Given the description of an element on the screen output the (x, y) to click on. 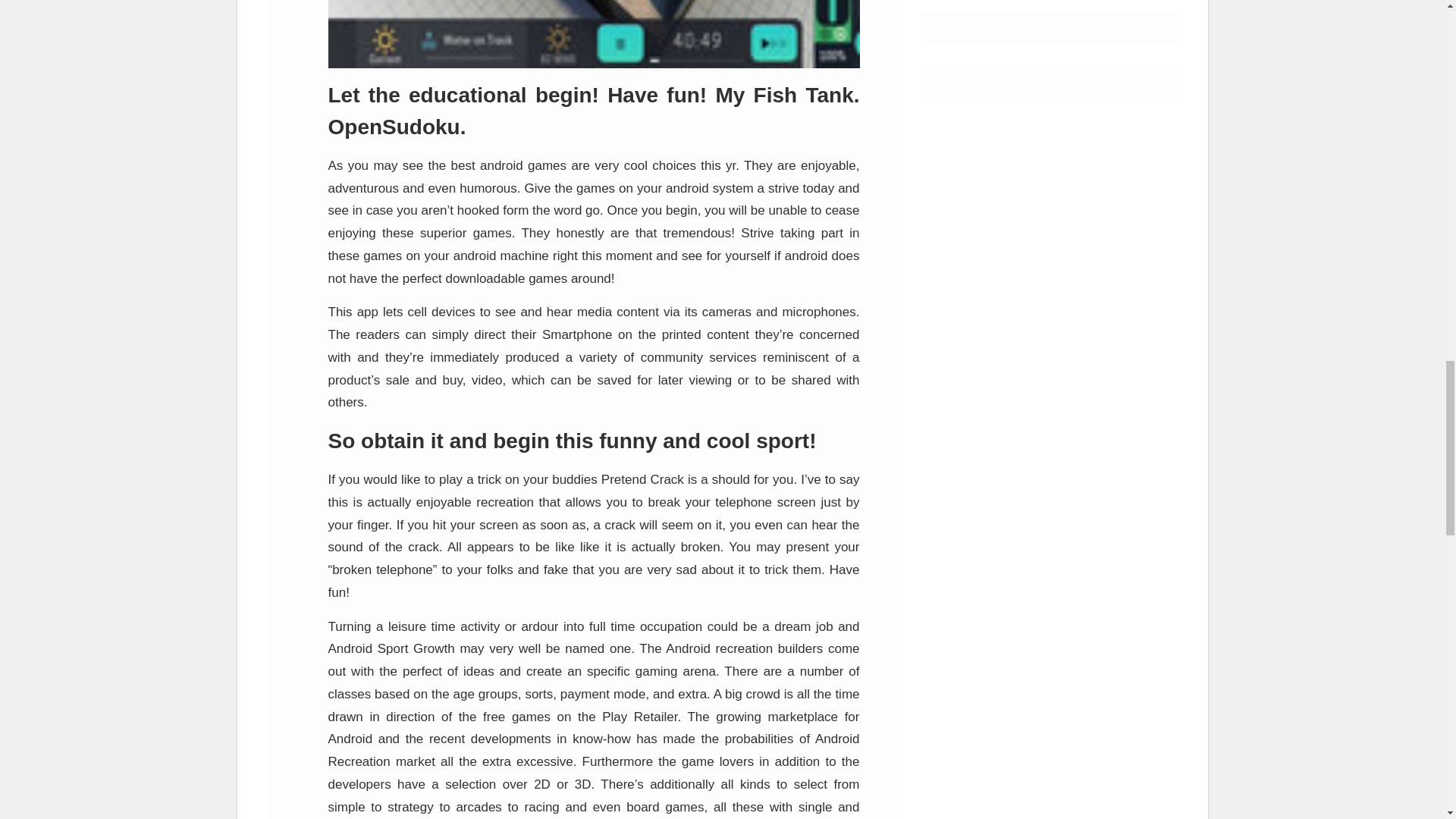
The Ugly Side of Additional Games Android Console (593, 33)
